Given the description of an element on the screen output the (x, y) to click on. 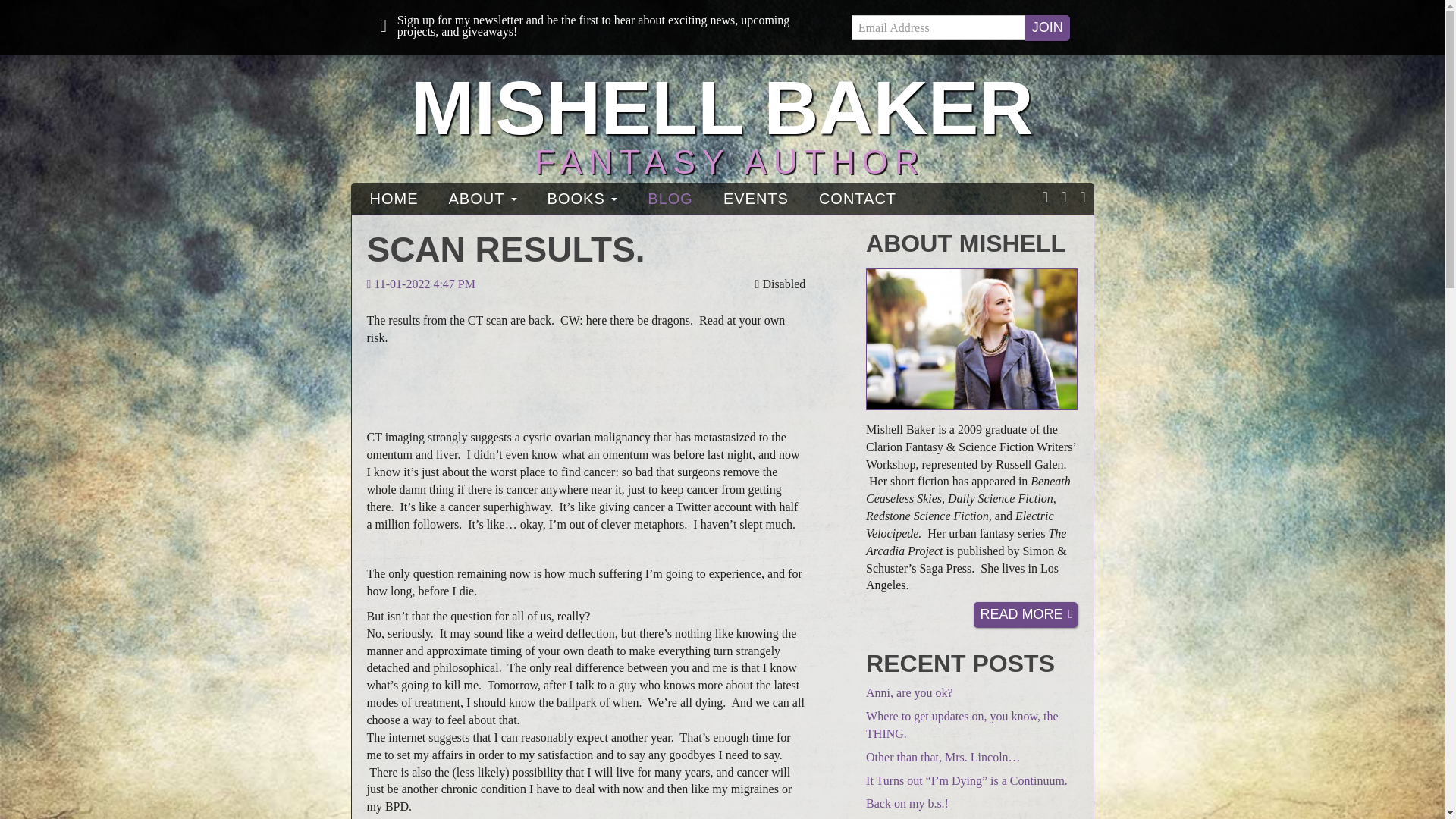
READ MORE (1026, 614)
Blog (669, 198)
Join (1047, 27)
Back on my b.s.! (907, 802)
BOOKS (582, 198)
BLOG (669, 198)
Where to get updates on, you know, the THING. (962, 725)
EVENTS (755, 198)
MISHELL BAKER (721, 107)
Books (582, 198)
Join (1047, 27)
HOME (394, 198)
CONTACT (857, 198)
About (482, 198)
11-01-2022 4:47 PM (420, 284)
